Given the description of an element on the screen output the (x, y) to click on. 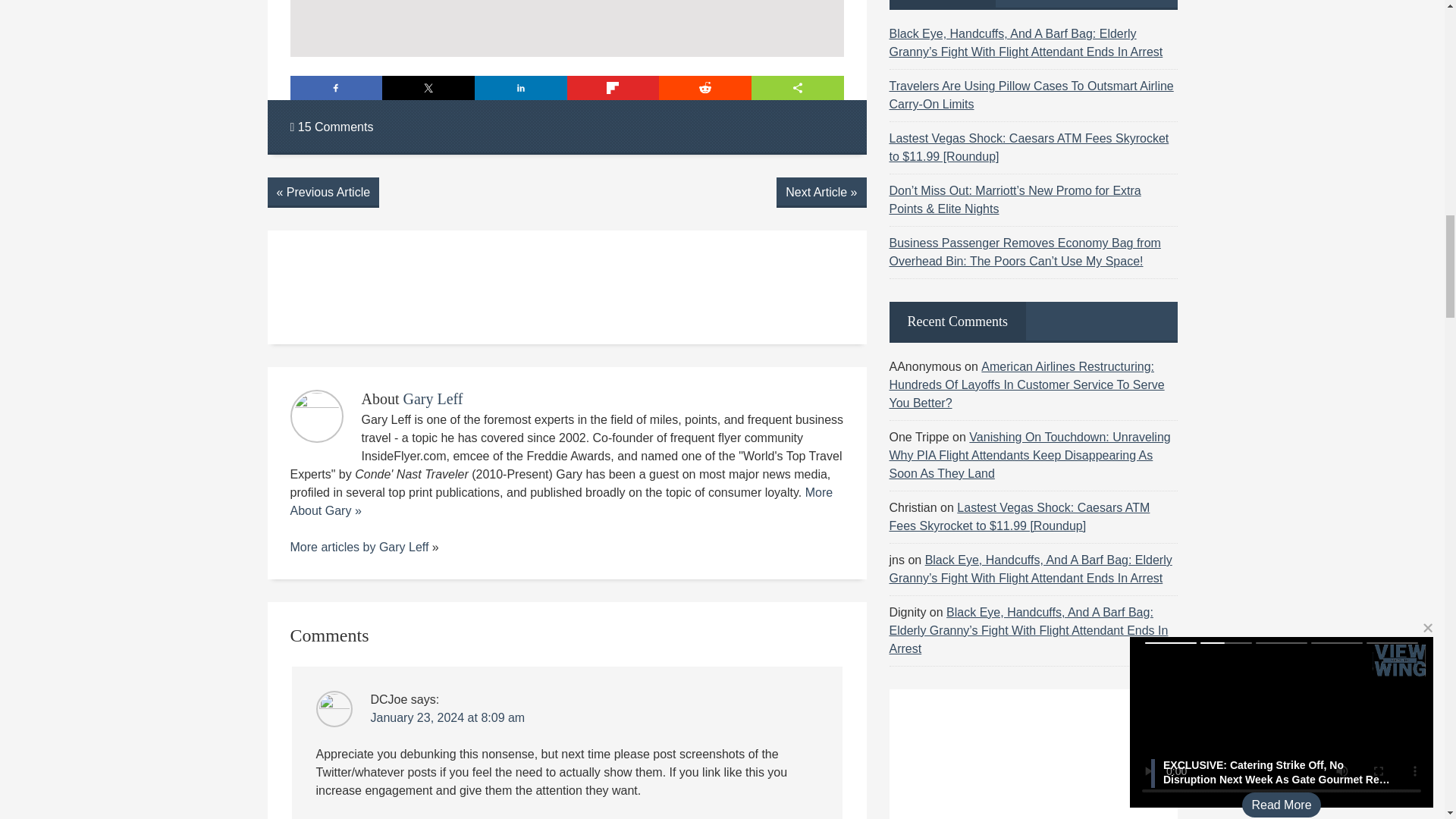
15 Comments (330, 126)
